Given the description of an element on the screen output the (x, y) to click on. 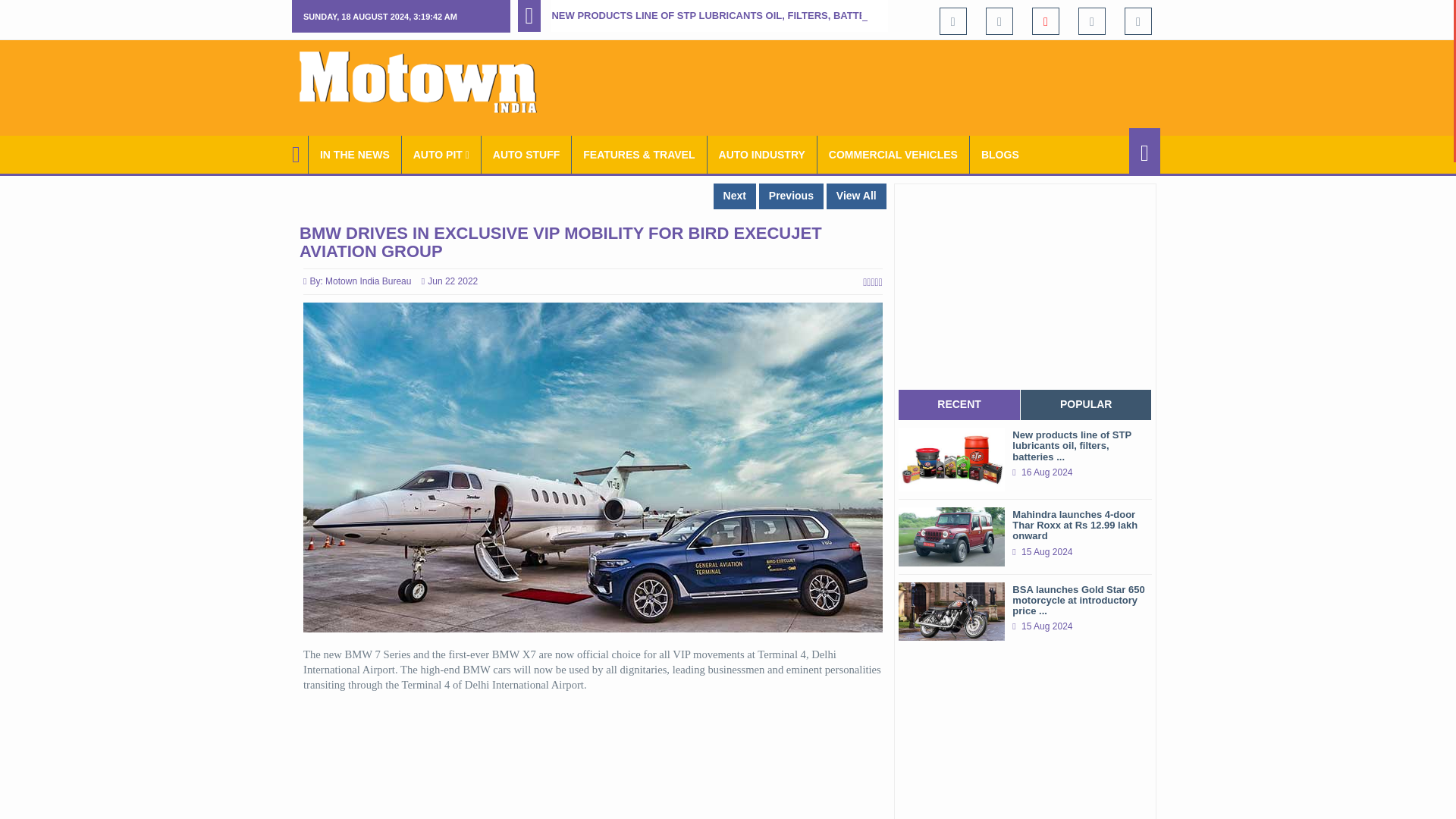
Next (734, 196)
Motown India on Facebook (952, 21)
MotownIndia (427, 81)
View All - Motown India (856, 196)
Motown India on LinkedIn (1137, 21)
View All Auto-Pit - Motown India (441, 154)
Advertisement (884, 85)
Motown India on Twitter (999, 21)
